Given the description of an element on the screen output the (x, y) to click on. 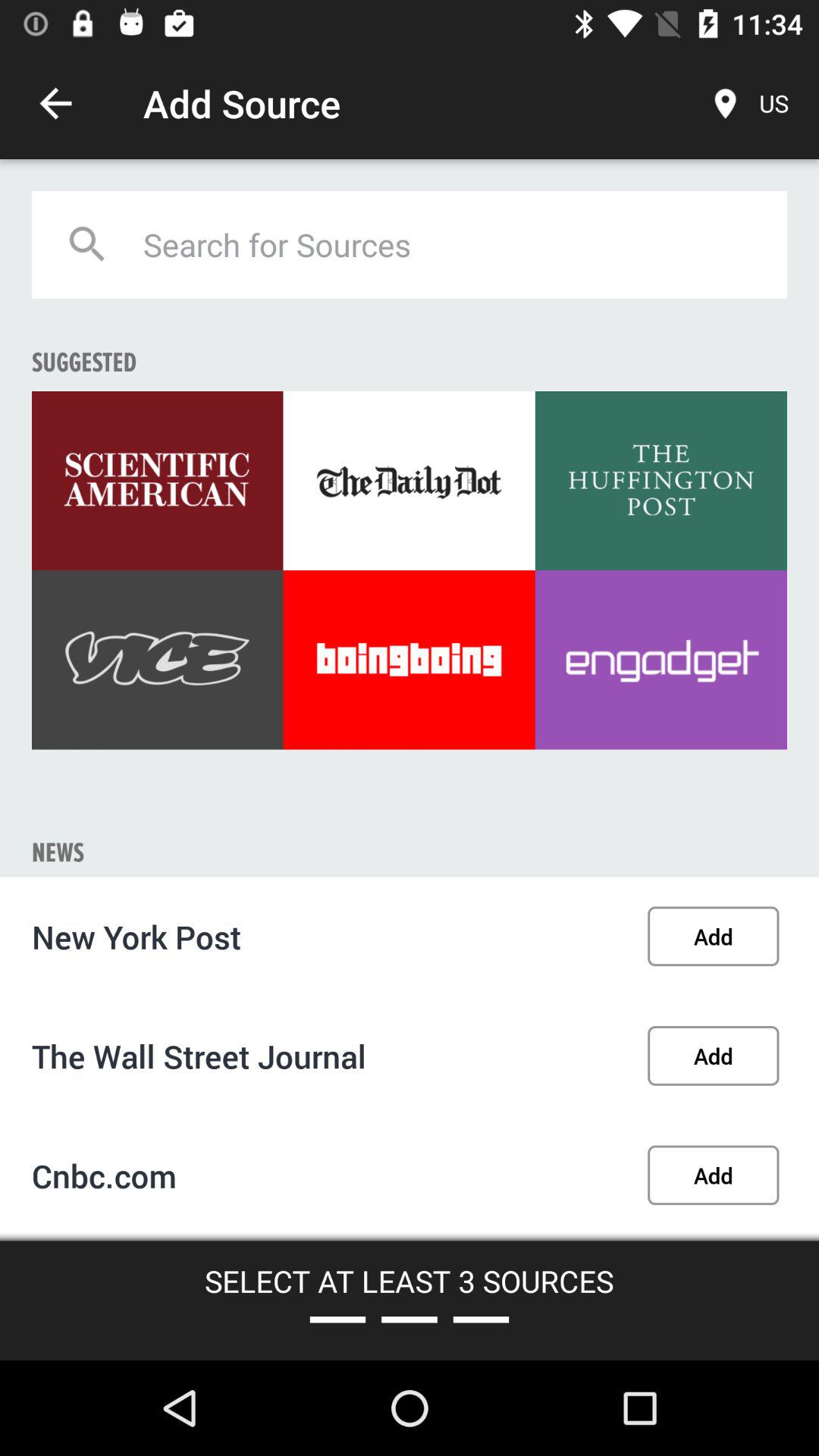
select the icon next to the add source item (55, 103)
